Given the description of an element on the screen output the (x, y) to click on. 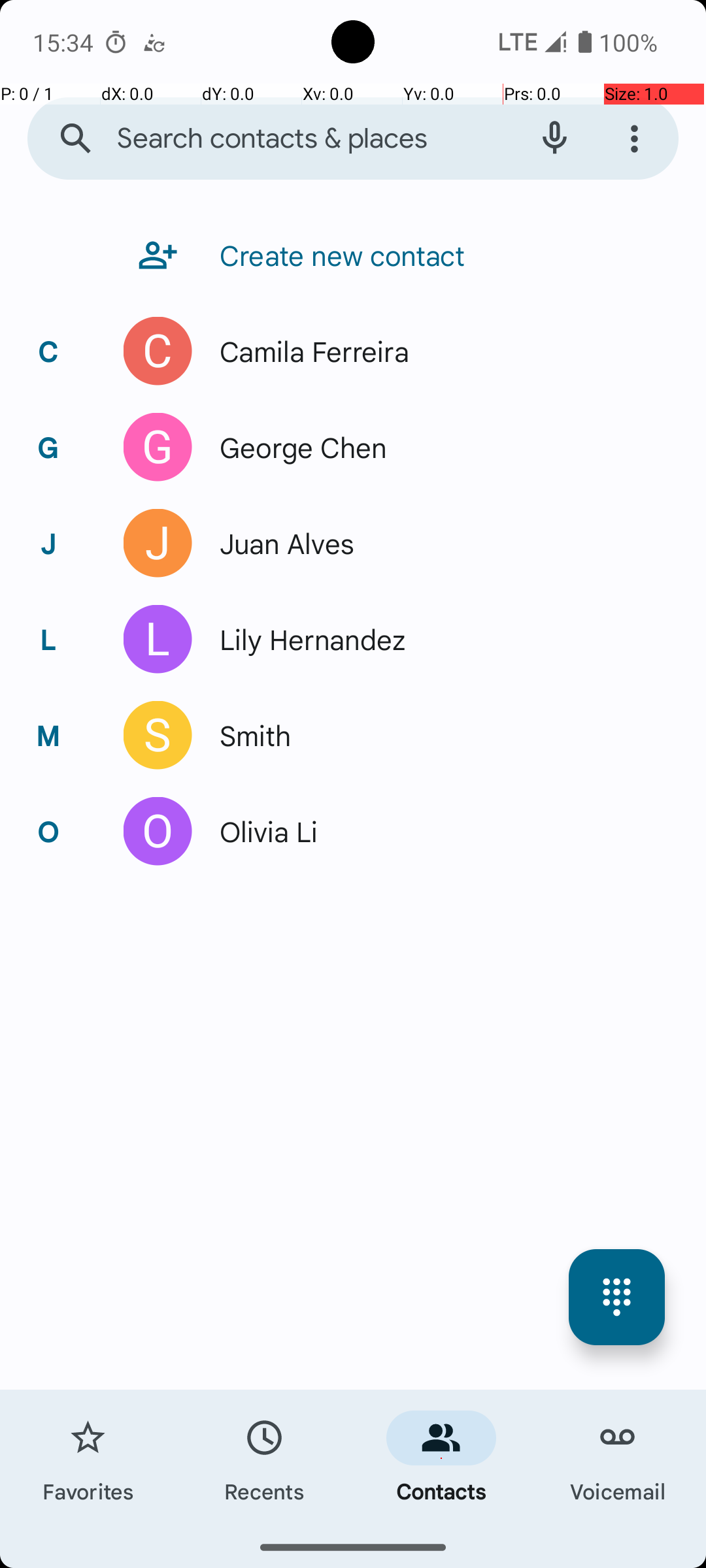
key pad Element type: android.widget.ImageButton (616, 1297)
Voicemail Element type: android.widget.FrameLayout (617, 1457)
Quick contact for Camila Ferreira Element type: android.widget.QuickContactBadge (157, 350)
Camila Ferreira Element type: android.widget.TextView (307, 350)
Quick contact for George Chen Element type: android.widget.QuickContactBadge (157, 446)
George Chen Element type: android.widget.TextView (296, 446)
Quick contact for Juan Alves Element type: android.widget.QuickContactBadge (157, 542)
Juan Alves Element type: android.widget.TextView (280, 542)
Quick contact for Lily Hernandez Element type: android.widget.QuickContactBadge (157, 638)
Lily Hernandez Element type: android.widget.TextView (305, 638)
Quick contact for Smith Element type: android.widget.QuickContactBadge (157, 735)
Smith Element type: android.widget.TextView (248, 735)
Quick contact for Olivia Li Element type: android.widget.QuickContactBadge (157, 831)
Olivia Li Element type: android.widget.TextView (261, 831)
